Given the description of an element on the screen output the (x, y) to click on. 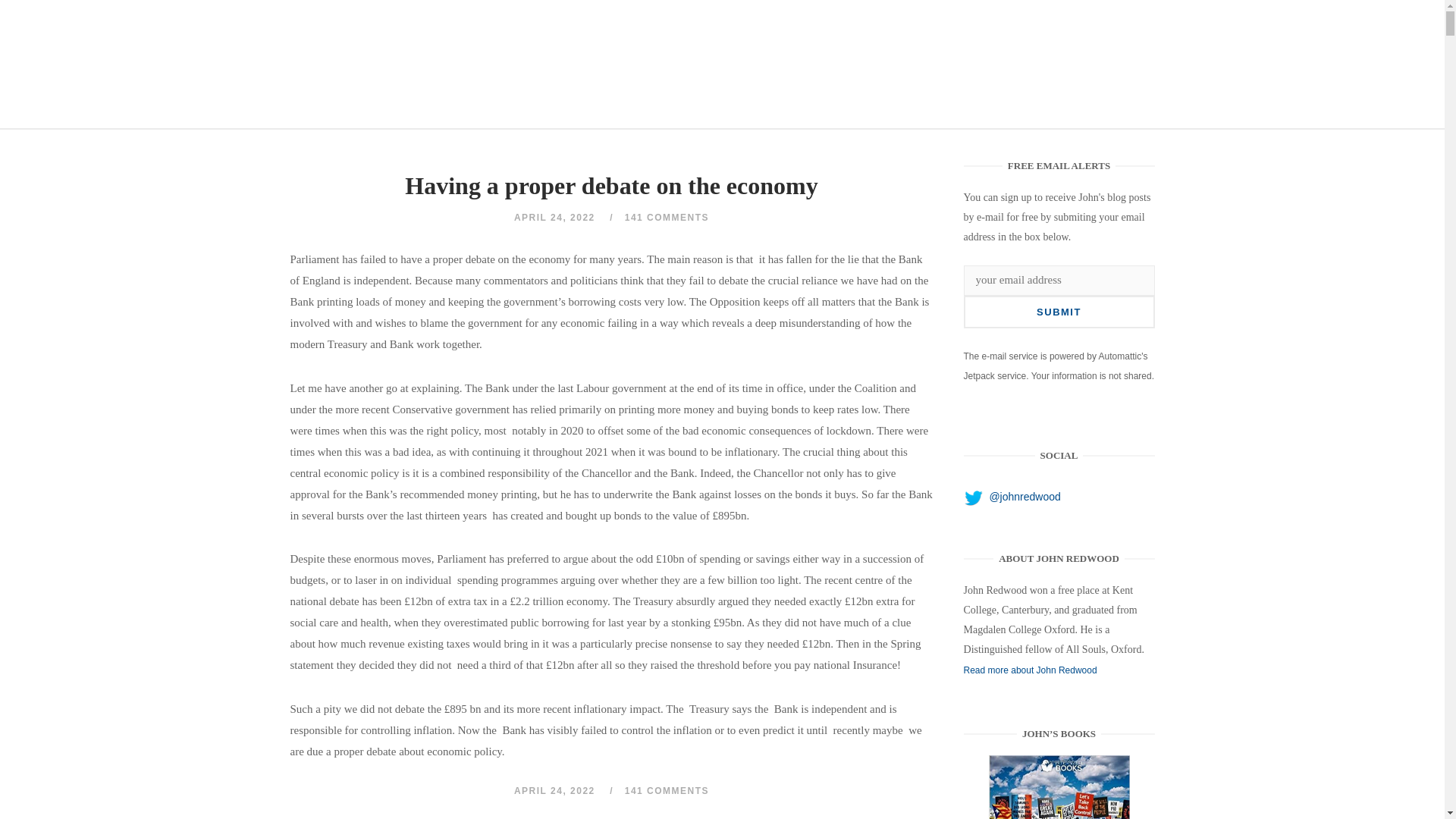
Submit (1058, 311)
Read more about John Redwood (1030, 670)
Submit (1058, 311)
Having a proper debate on the economy (1058, 787)
